Given the description of an element on the screen output the (x, y) to click on. 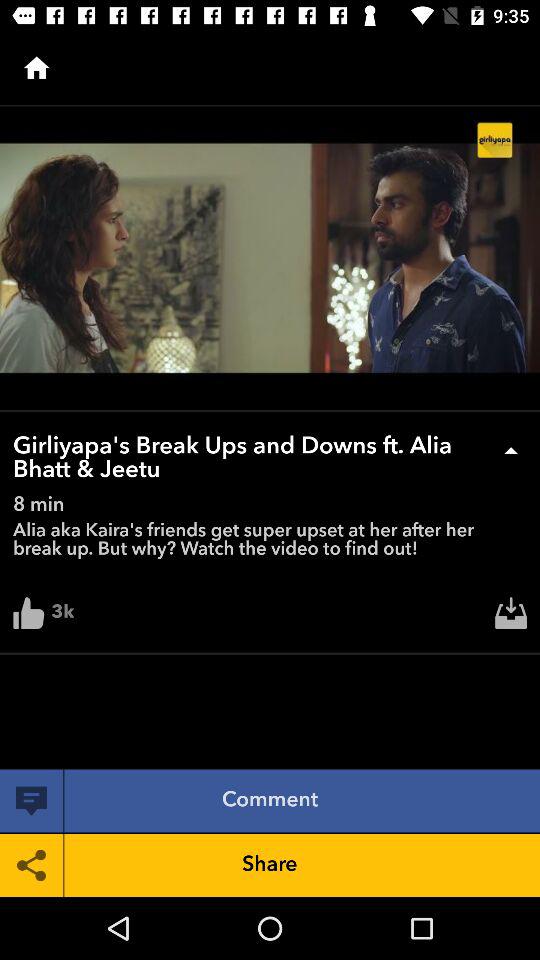
click the icon next to 3k icon (511, 618)
